Given the description of an element on the screen output the (x, y) to click on. 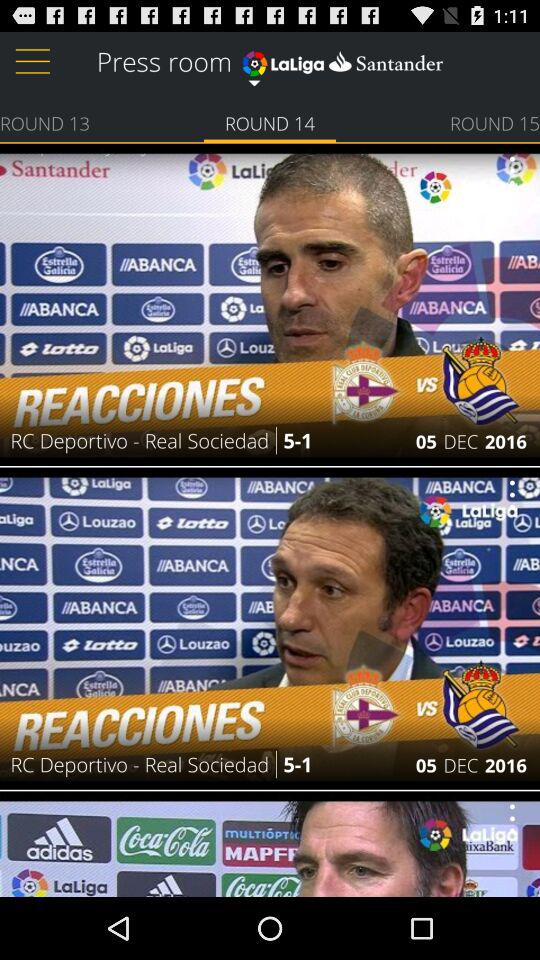
press the item next to the press room item (342, 59)
